Given the description of an element on the screen output the (x, y) to click on. 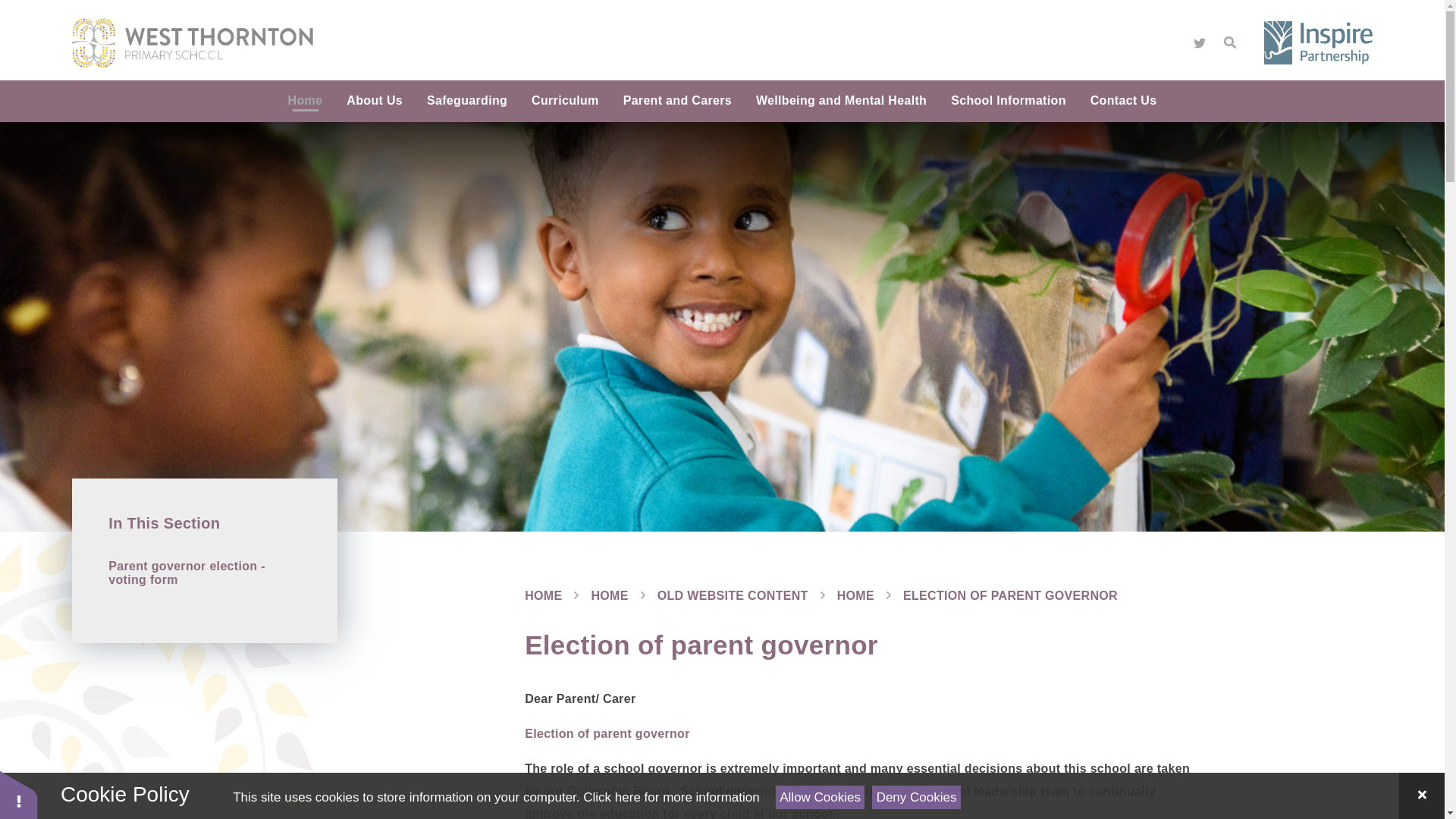
Allow Cookies (820, 797)
Curriculum (565, 101)
Safeguarding (466, 101)
About Us (374, 101)
Home (305, 101)
Deny Cookies (915, 797)
See cookie policy (670, 797)
